Given the description of an element on the screen output the (x, y) to click on. 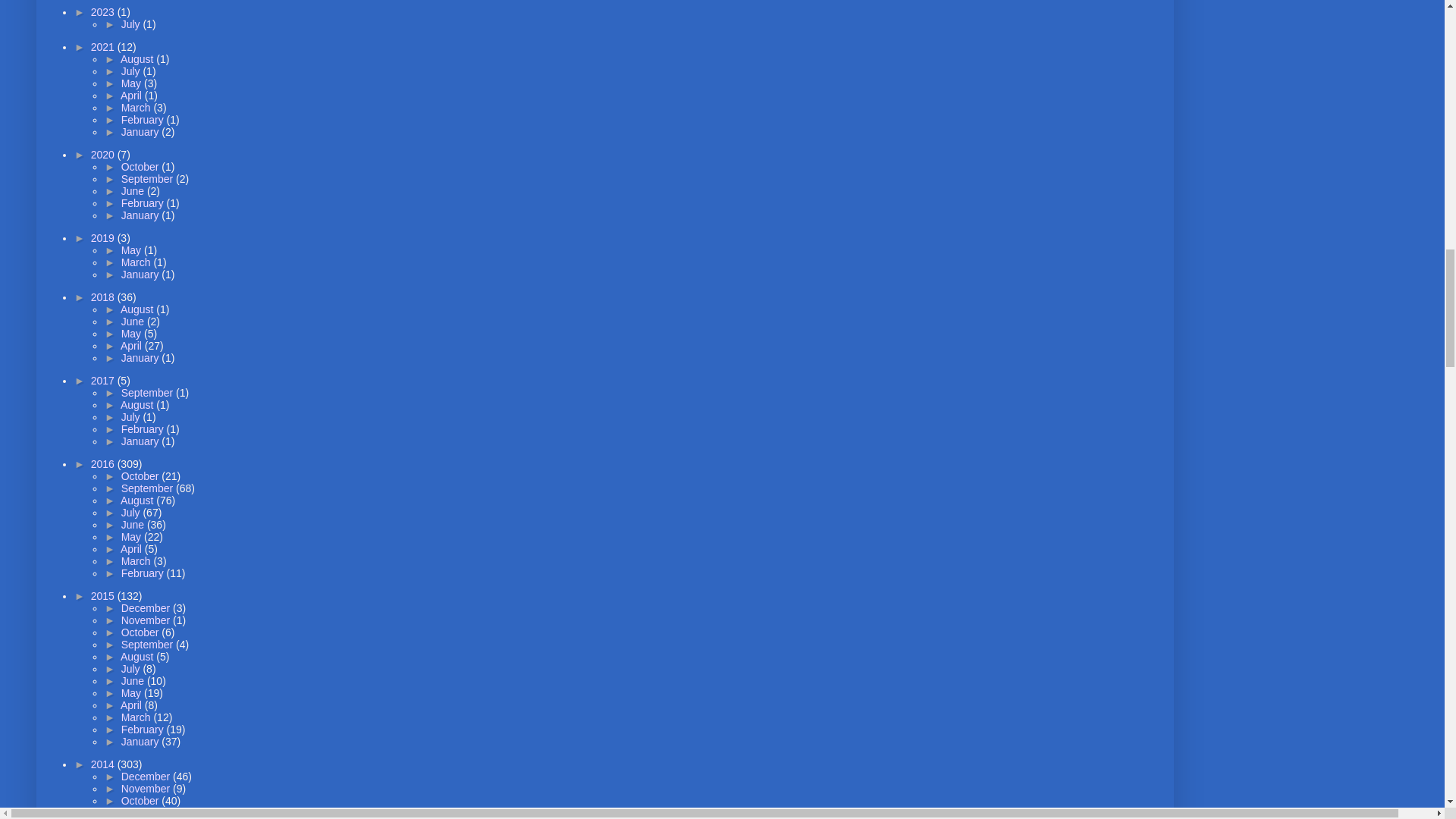
2023 (103, 11)
July (131, 24)
